Given the description of an element on the screen output the (x, y) to click on. 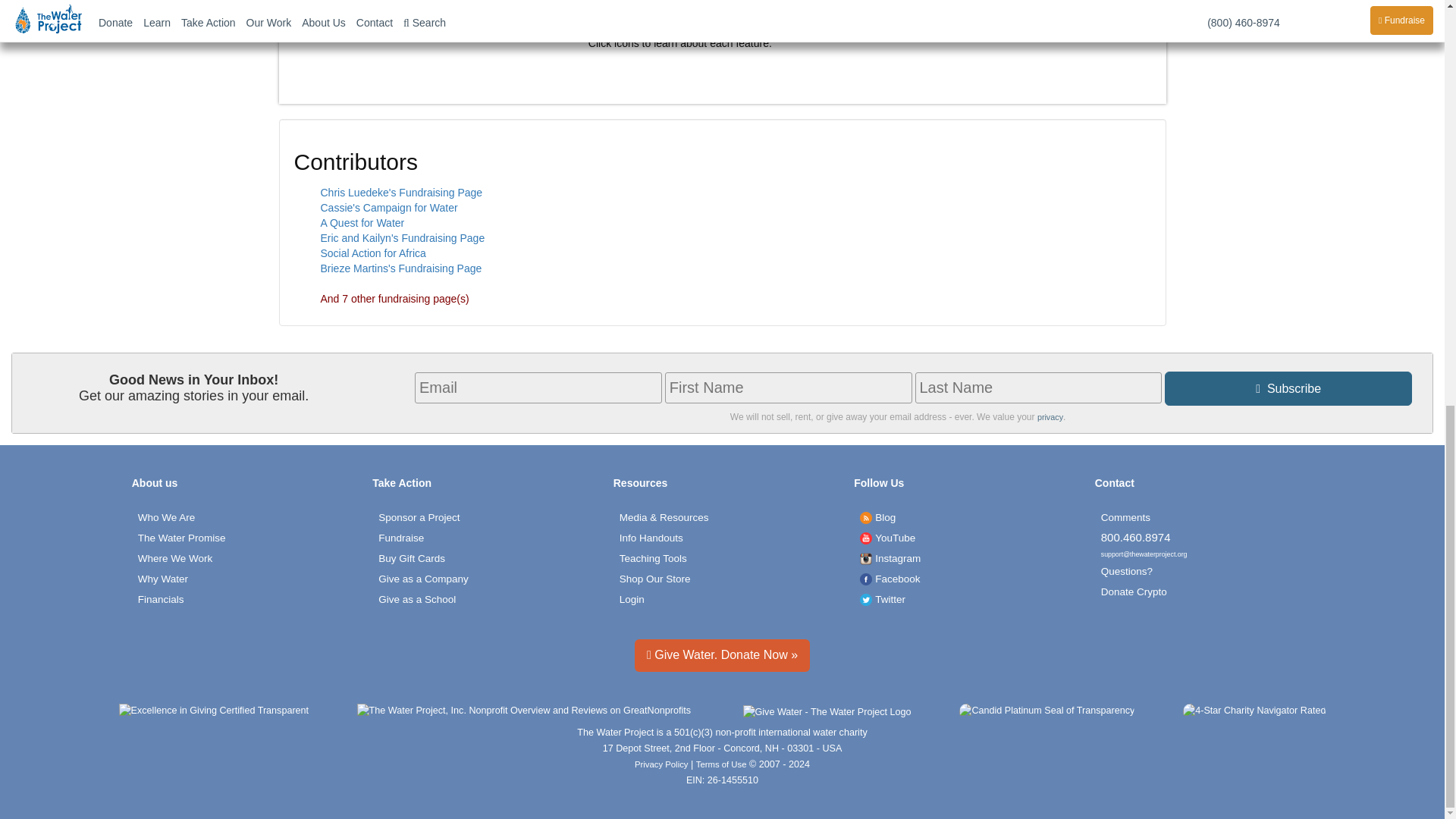
Protected Spring (609, 16)
The Water Project logos and other brand assets (664, 517)
Community Engagement (698, 11)
Hygiene and Sanitation Training (742, 11)
Monitoring and Resolution (787, 11)
Protected Spring (609, 11)
Local Leadership (654, 11)
2023 Top-rated nonprofits and charities (523, 712)
